Given the description of an element on the screen output the (x, y) to click on. 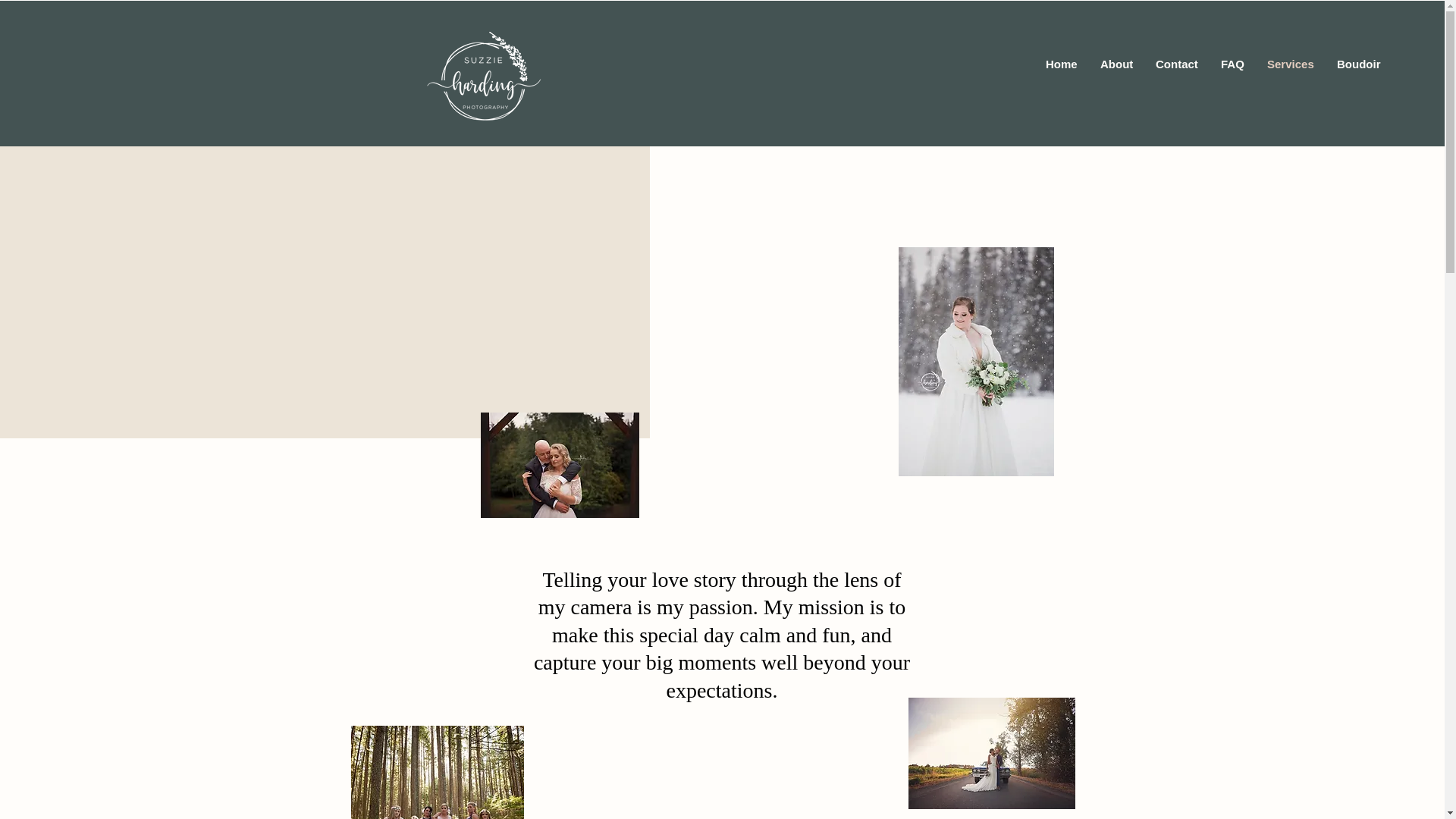
Contact (1176, 63)
About (1116, 63)
Services (1289, 63)
Home (1061, 63)
Boudoir (1357, 63)
FAQ (1232, 63)
